Given the description of an element on the screen output the (x, y) to click on. 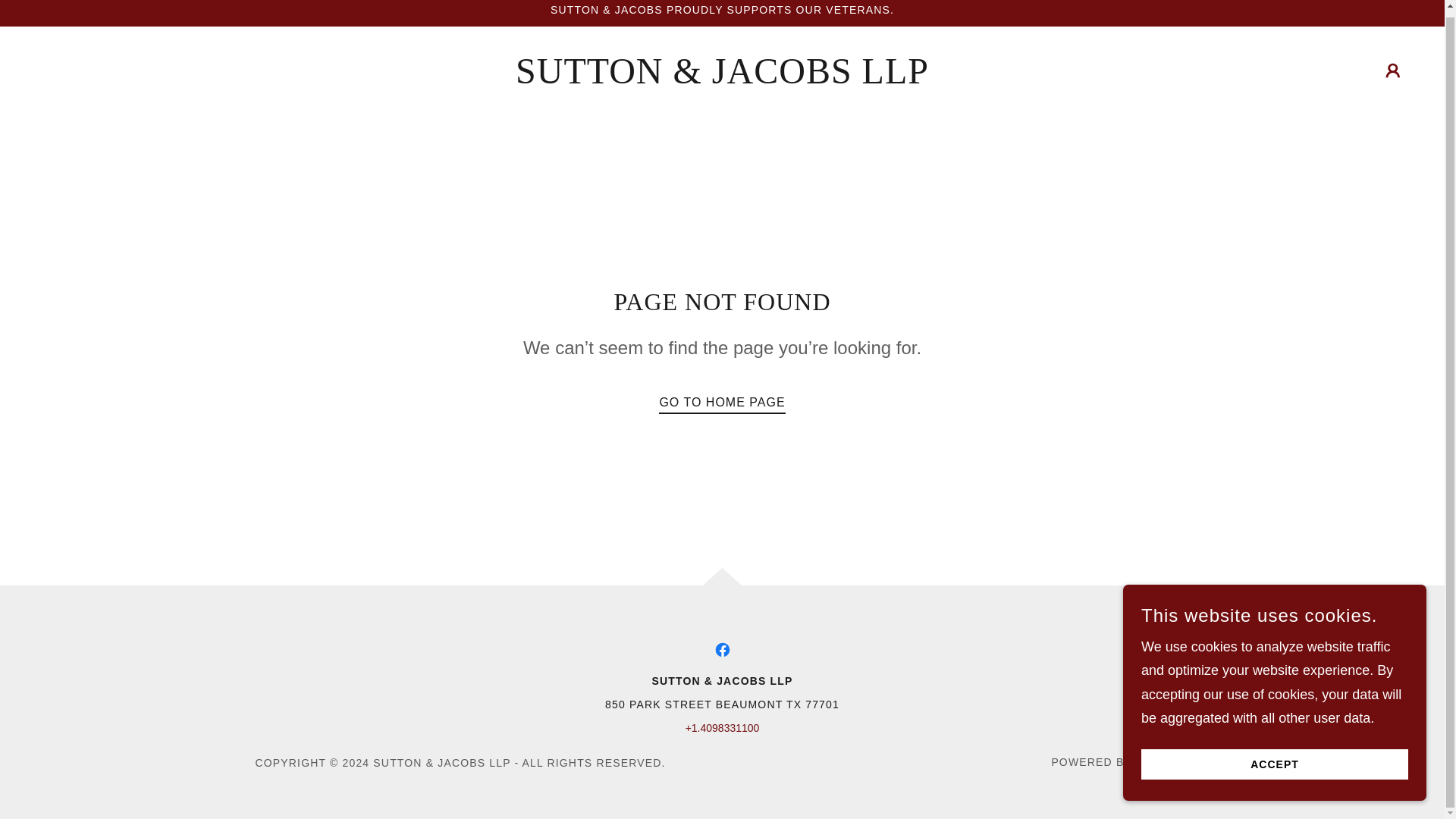
GO TO HOME PAGE (721, 399)
GODADDY (1162, 761)
ACCEPT (1274, 757)
